Given the description of an element on the screen output the (x, y) to click on. 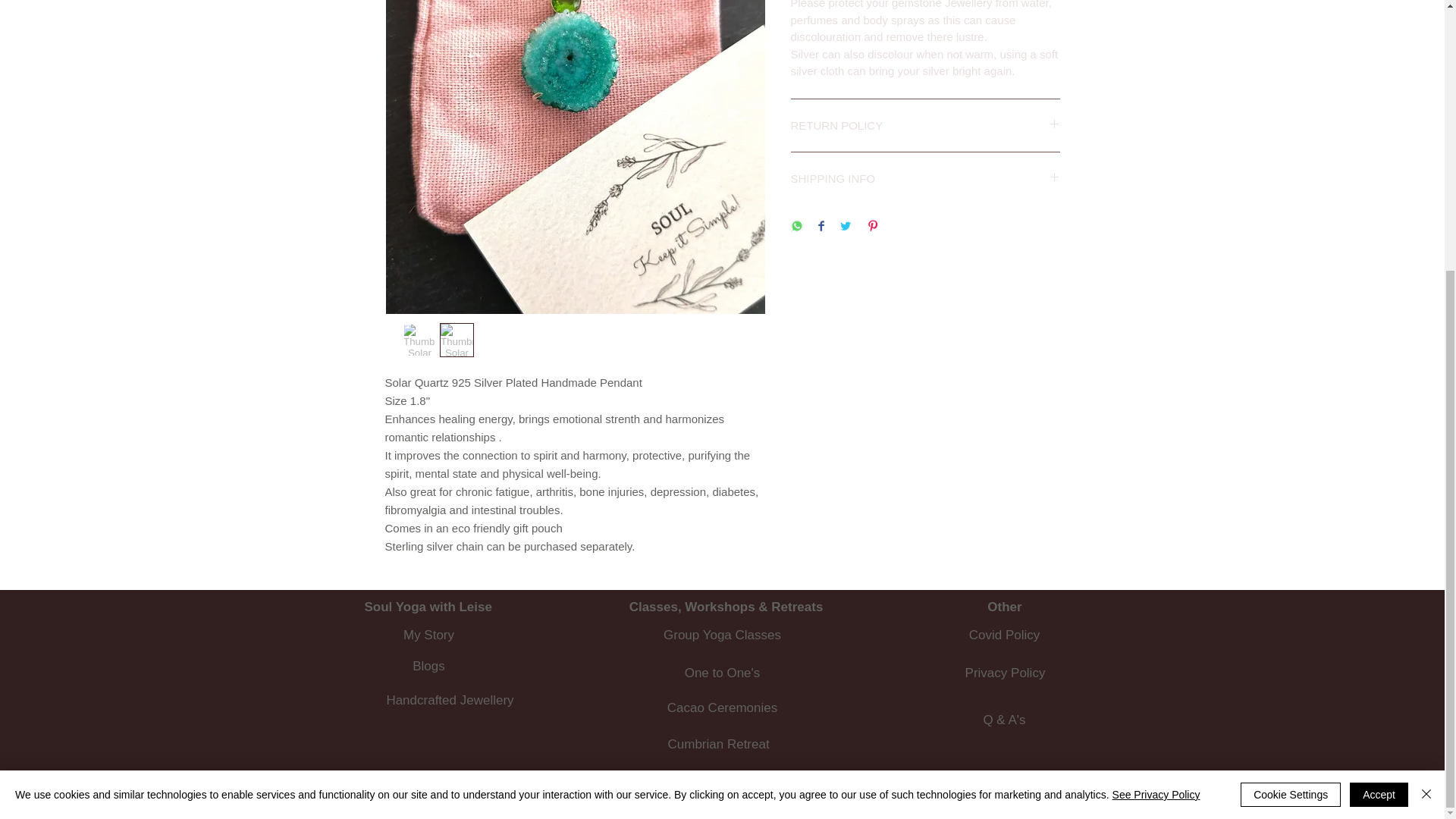
RETURN POLICY (924, 125)
Cumbrian Retreat (717, 744)
See Privacy Policy (1155, 398)
SHIPPING INFO (924, 178)
